Given the description of an element on the screen output the (x, y) to click on. 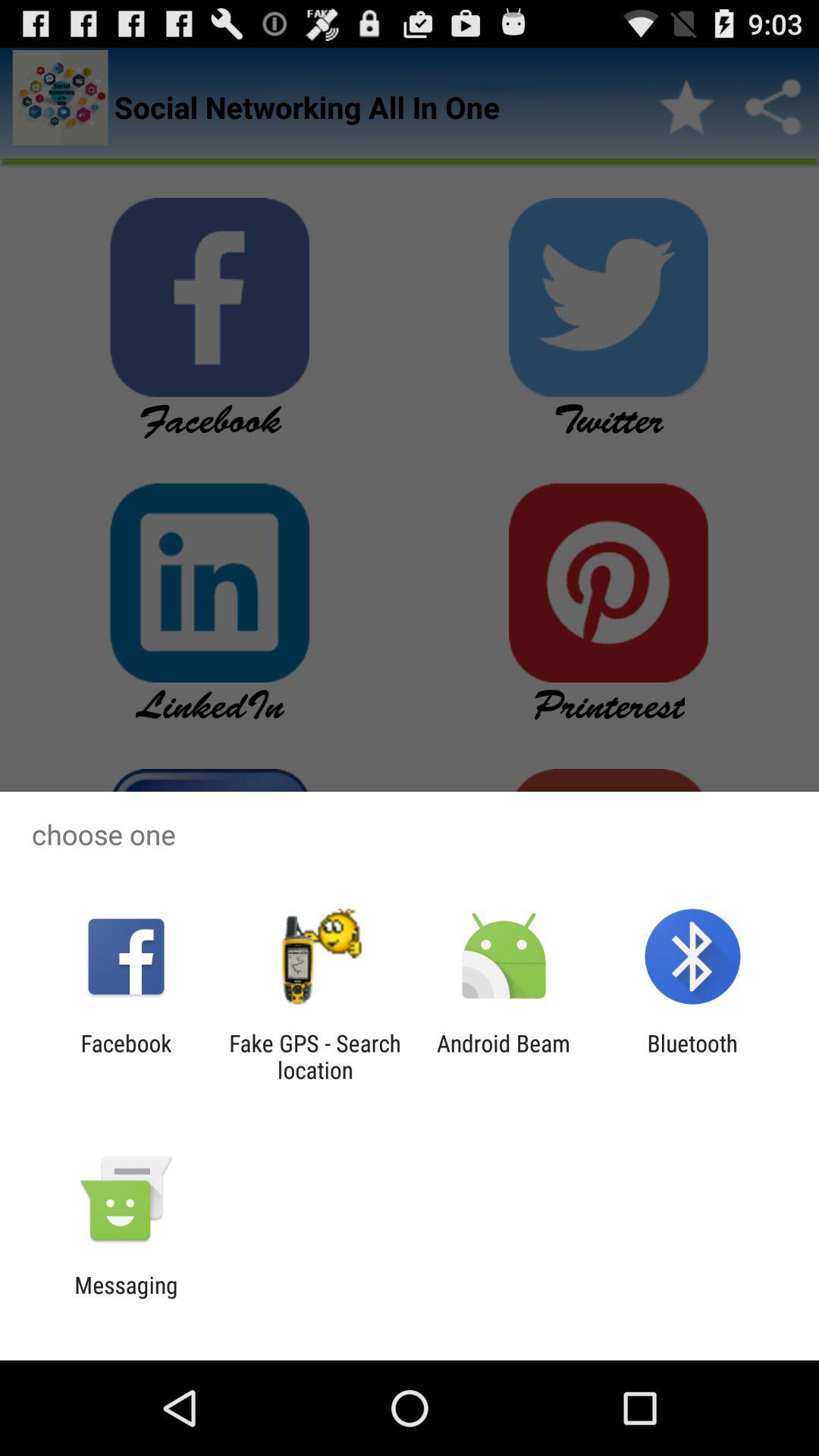
click the icon next to android beam item (692, 1056)
